Given the description of an element on the screen output the (x, y) to click on. 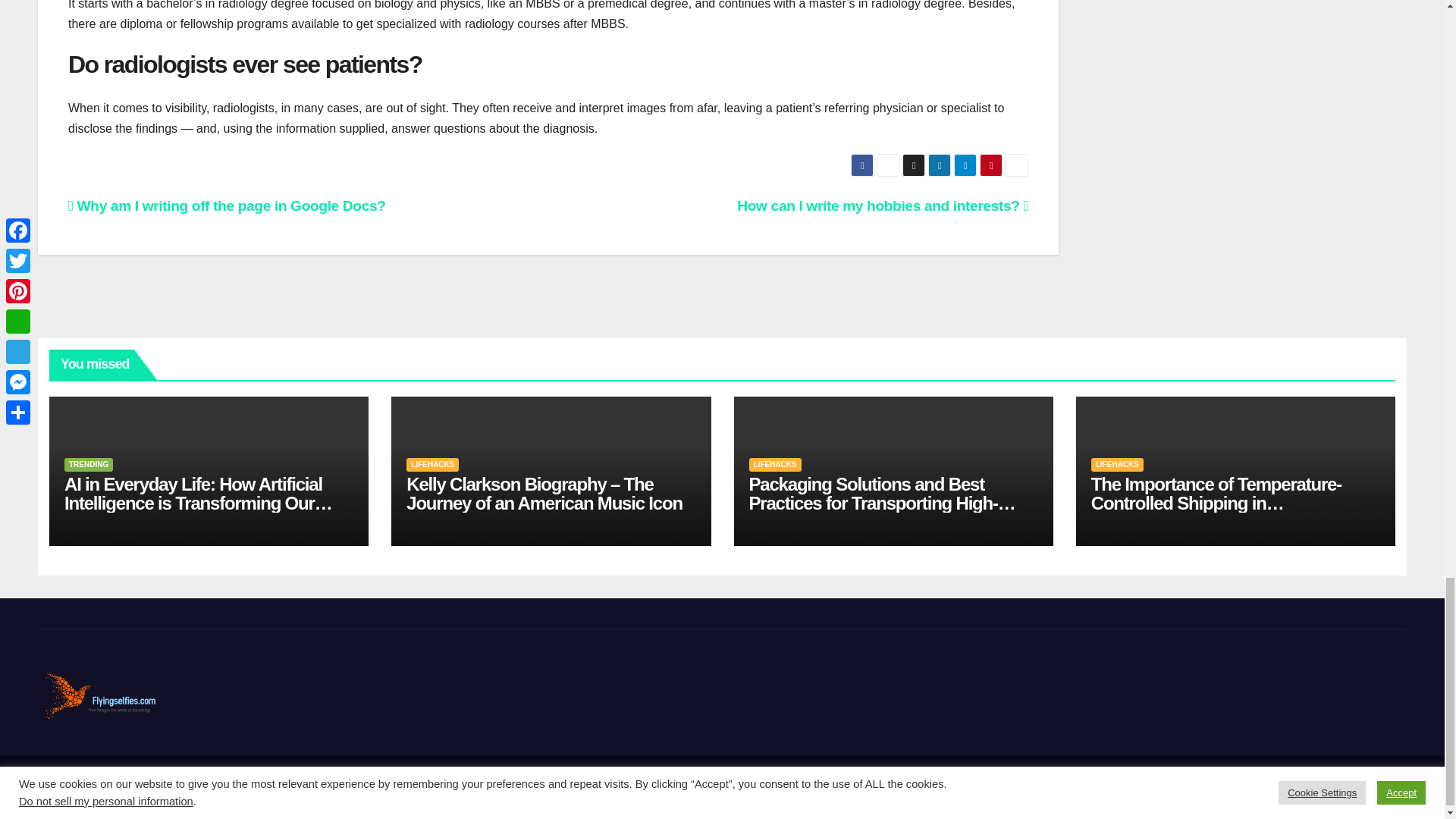
How can I write my hobbies and interests? (881, 205)
Privacy Policy (1296, 786)
Why am I writing off the page in Google Docs? (226, 205)
Terms of Use (1371, 786)
Feedback (1228, 786)
